Given the description of an element on the screen output the (x, y) to click on. 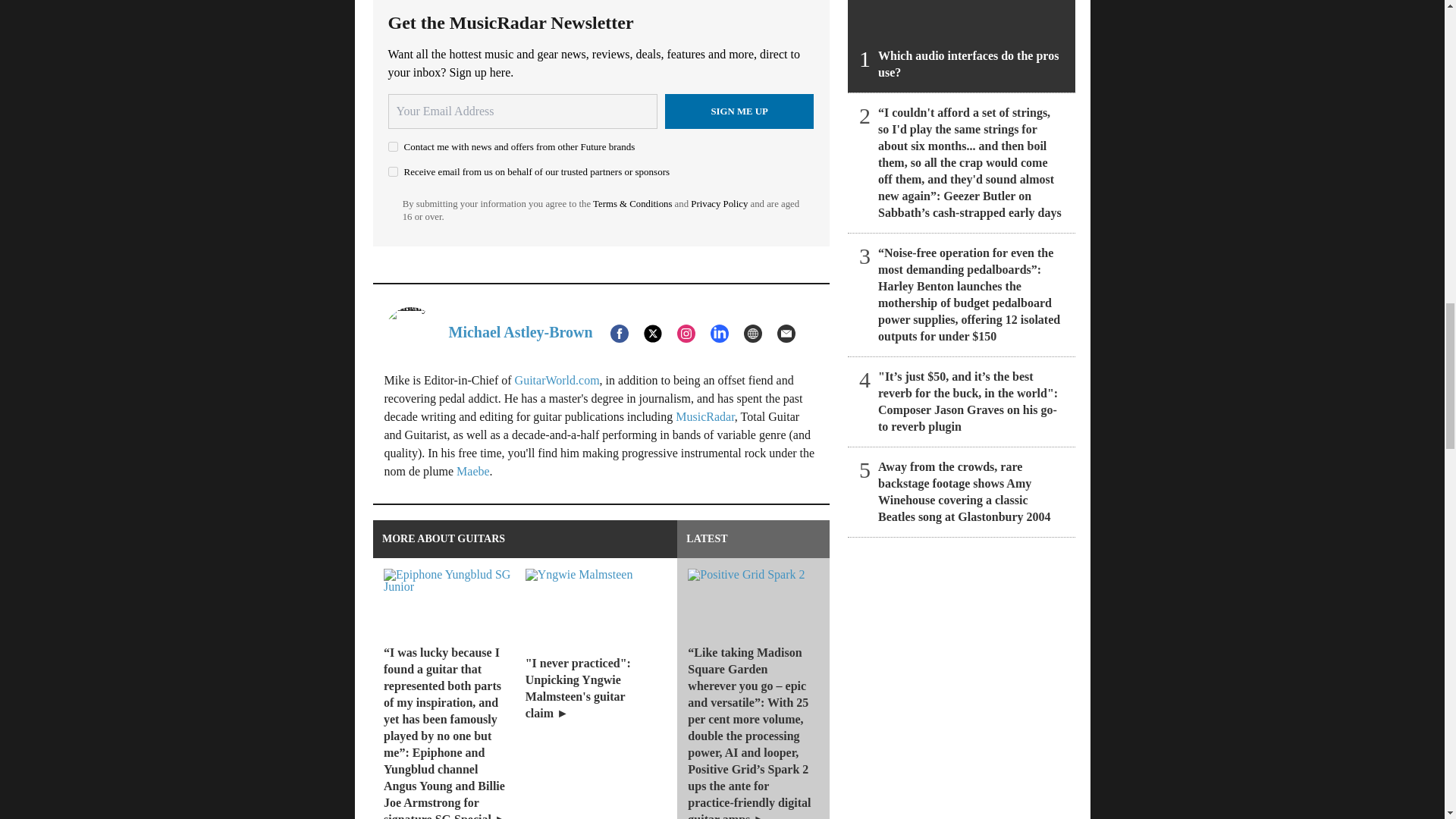
Sign me up (739, 111)
on (392, 171)
on (392, 146)
Which audio interfaces do the pros use? (961, 46)
